Given the description of an element on the screen output the (x, y) to click on. 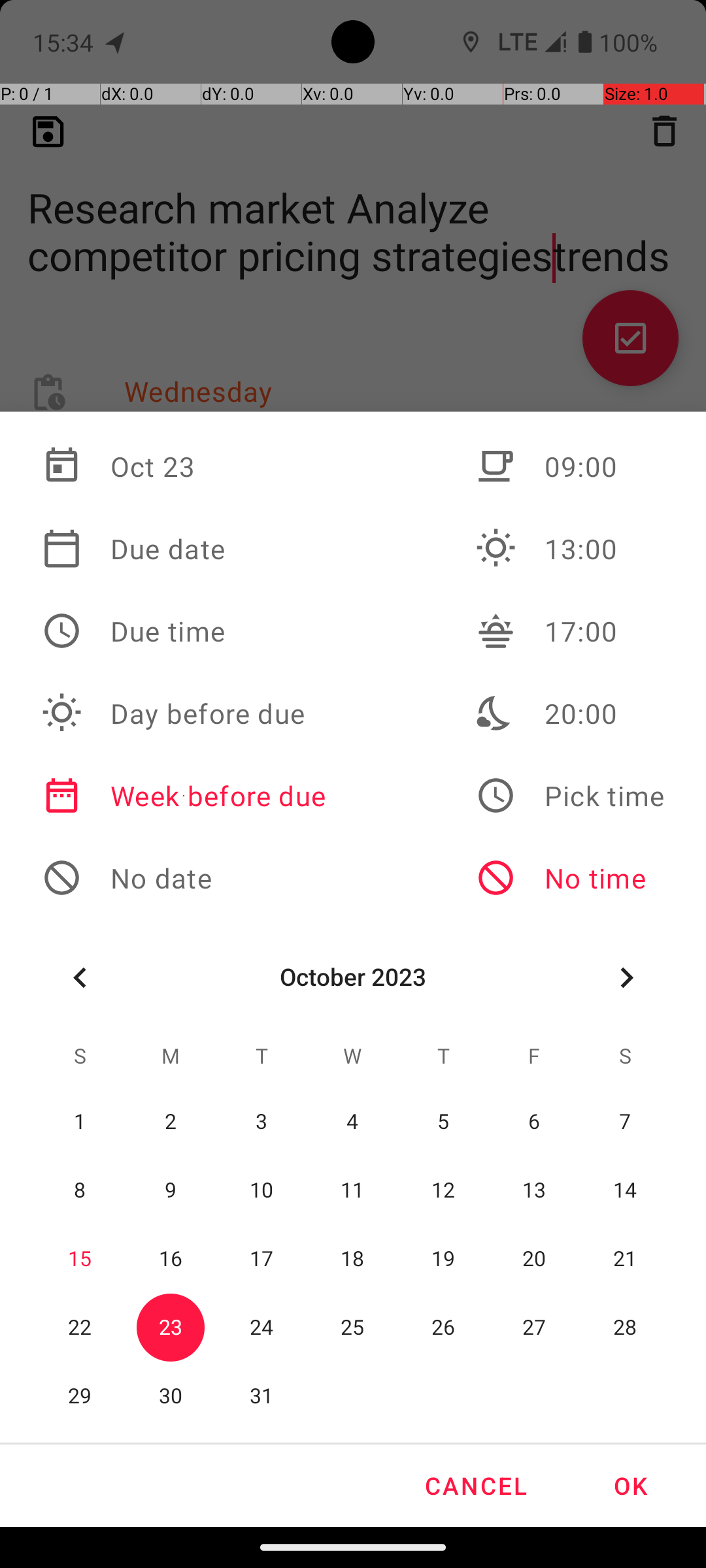
Oct 23 Element type: android.widget.CompoundButton (183, 466)
